Given the description of an element on the screen output the (x, y) to click on. 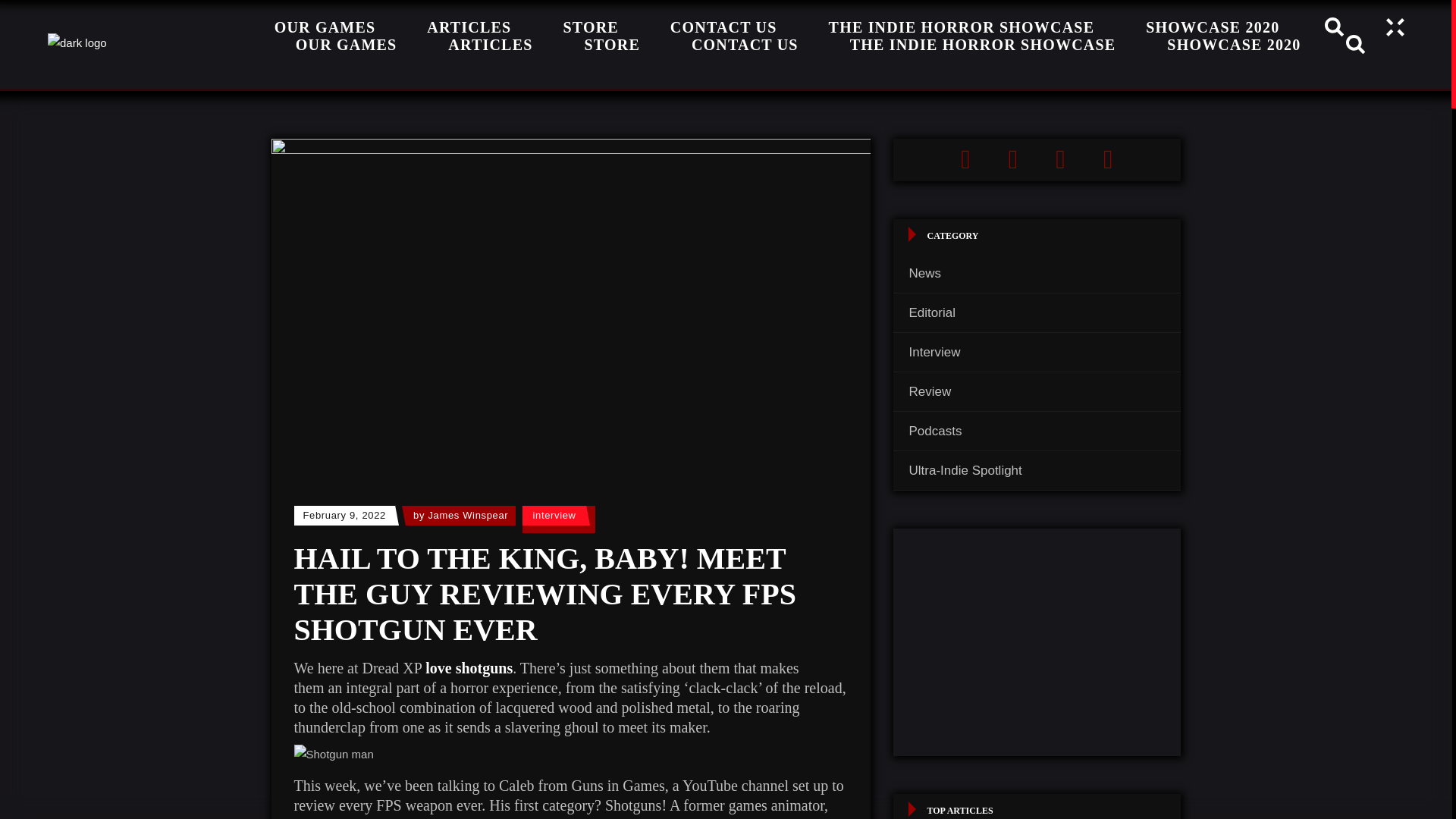
THE INDIE HORROR SHOWCASE (982, 44)
CONTACT US (744, 44)
OUR GAMES (324, 29)
ARTICLES (489, 44)
OUR GAMES (346, 44)
STORE (611, 44)
Shift-click to edit this widget. (1036, 159)
SHOWCASE 2020 (1233, 44)
